Given the description of an element on the screen output the (x, y) to click on. 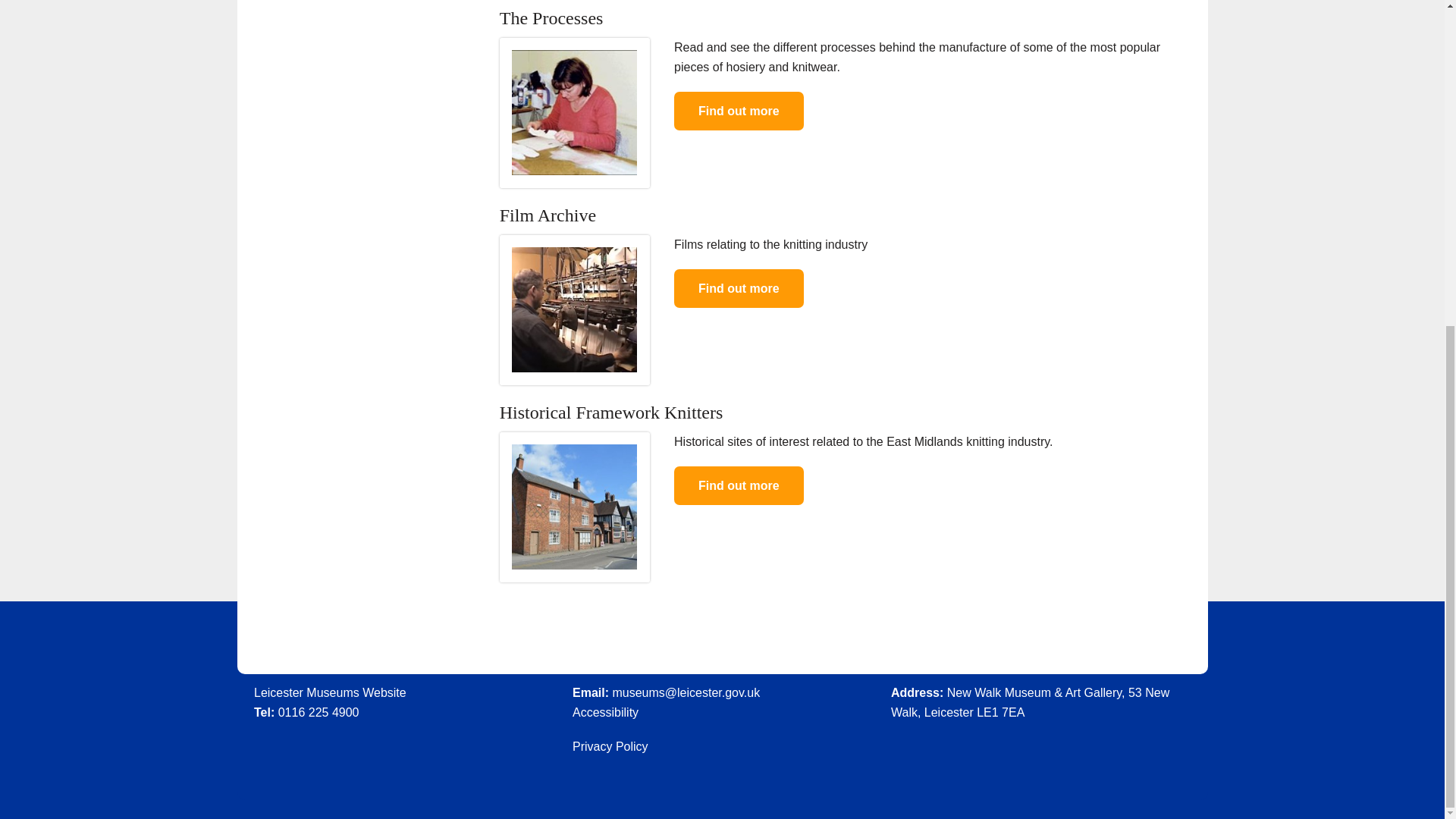
find out more about The Processes (738, 110)
find out more about Film Archive (738, 288)
Find out more (738, 110)
The Processes (551, 17)
find out more about Historical Framework Knitters (738, 485)
Film Archive (547, 215)
